Given the description of an element on the screen output the (x, y) to click on. 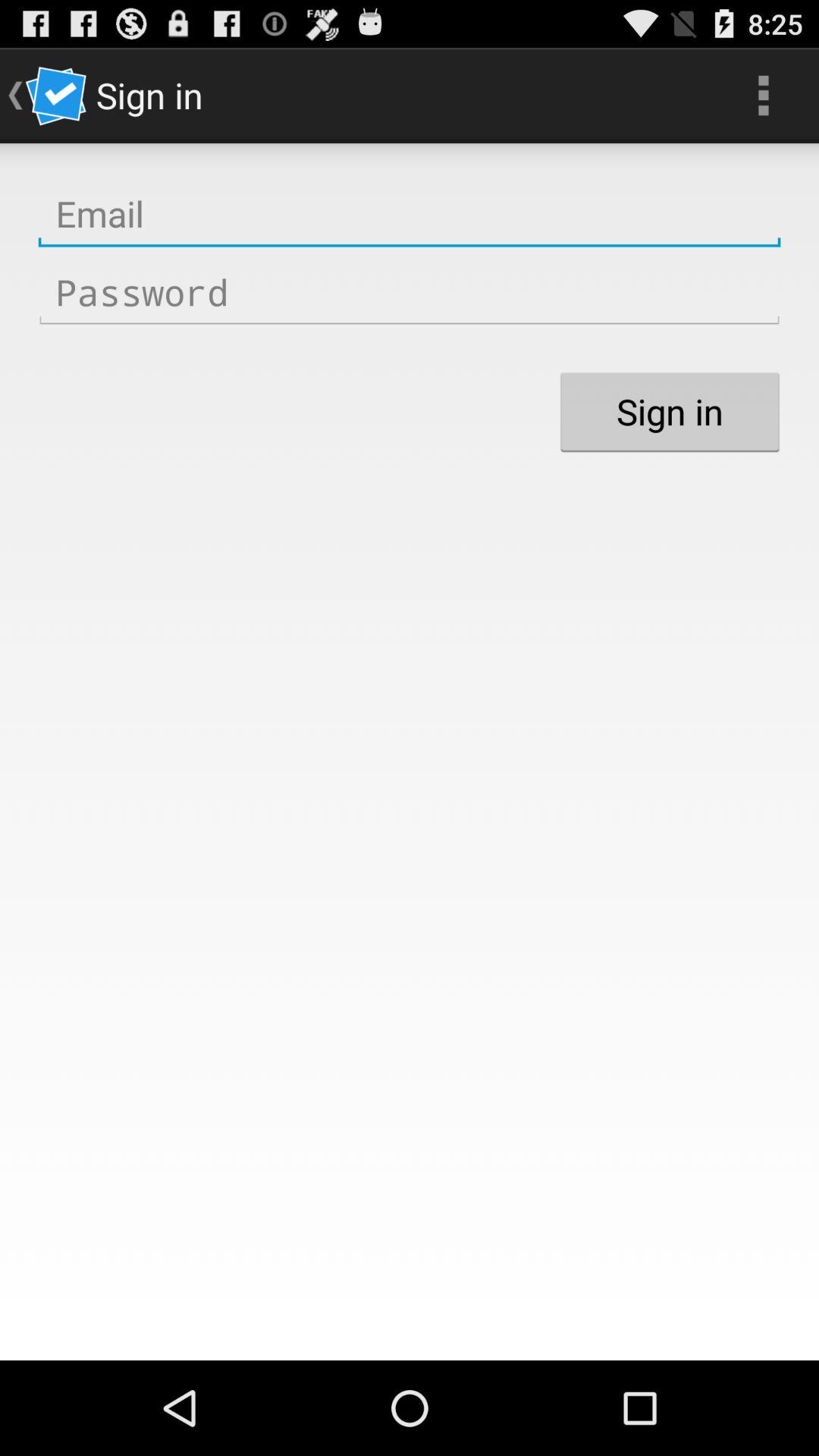
password button (409, 292)
